Given the description of an element on the screen output the (x, y) to click on. 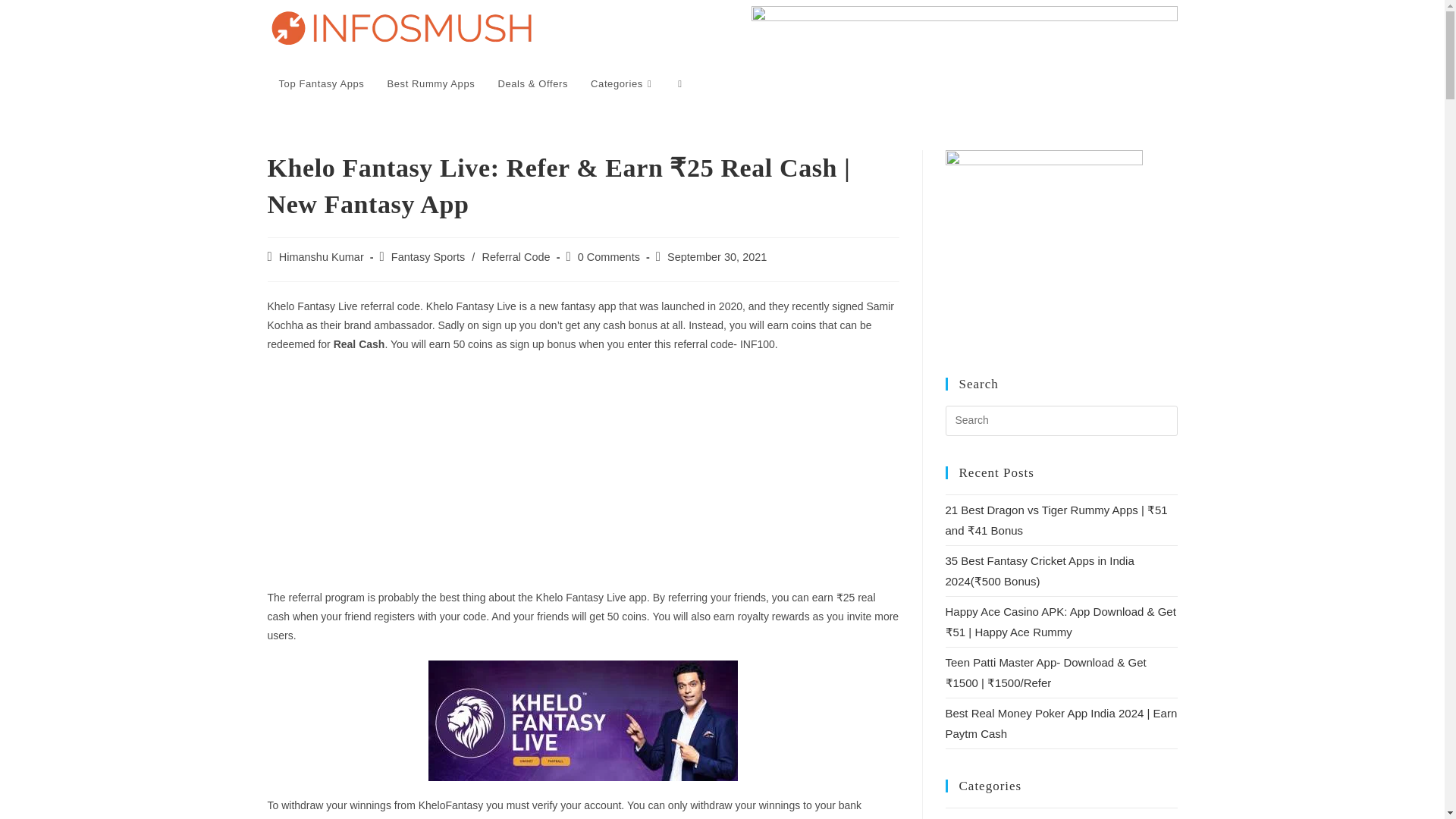
Best Rummy Apps (430, 84)
Referral Code (515, 256)
Categories (622, 84)
0 Comments (609, 256)
Top Fantasy Apps (320, 84)
Fantasy Sports (428, 256)
Himanshu Kumar (321, 256)
Posts by Himanshu Kumar (321, 256)
